Given the description of an element on the screen output the (x, y) to click on. 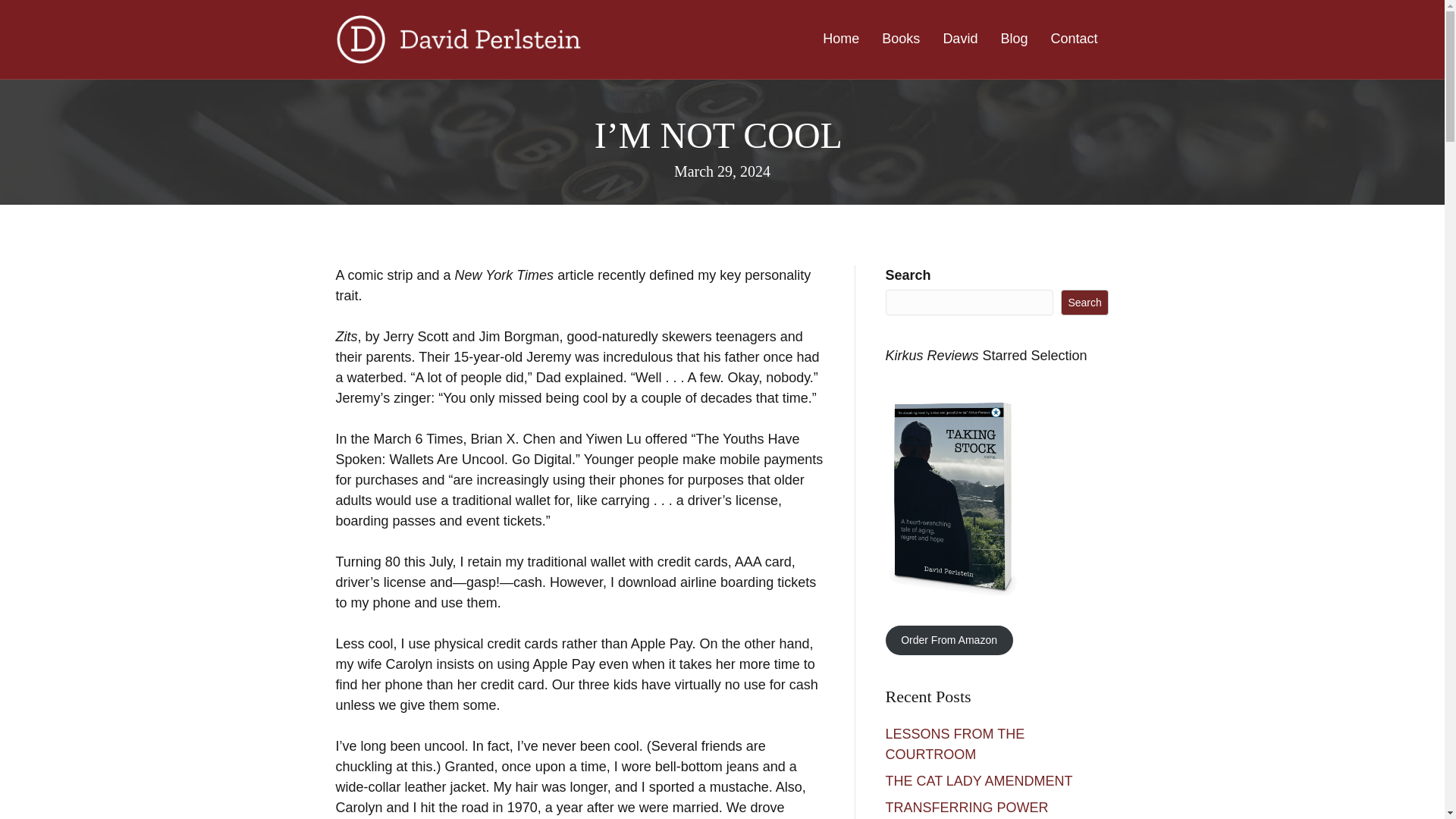
Order From Amazon (949, 640)
David (959, 38)
Contact (1073, 38)
Books (900, 38)
Home (840, 38)
THE CAT LADY AMENDMENT  (981, 780)
LESSONS FROM THE COURTROOM  (955, 744)
TRANSFERRING POWER  (968, 807)
Search (1085, 302)
Blog (1013, 38)
